Given the description of an element on the screen output the (x, y) to click on. 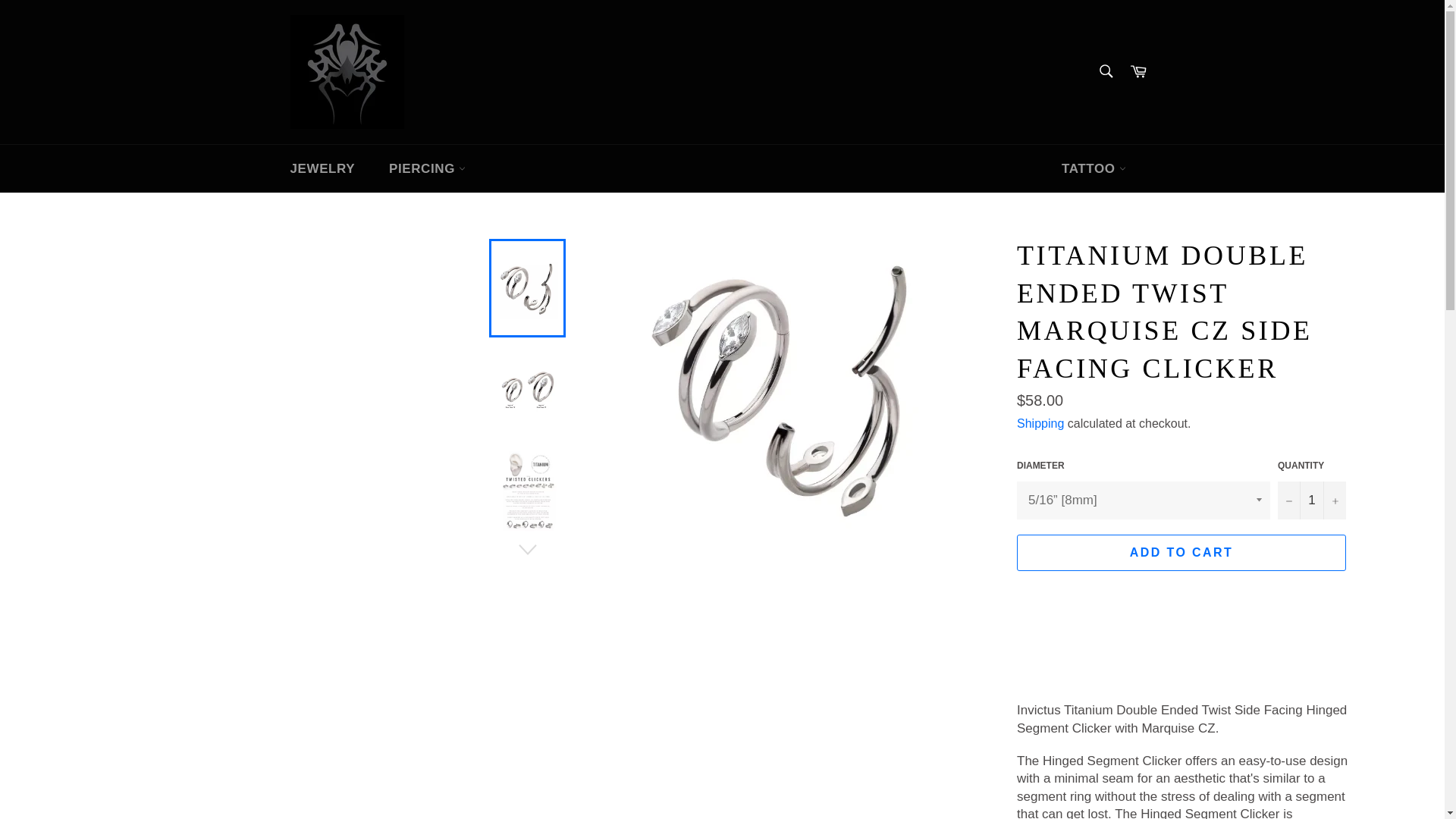
JEWELRY (322, 168)
Search (1104, 70)
Cart (1138, 71)
1 (1311, 499)
